Given the description of an element on the screen output the (x, y) to click on. 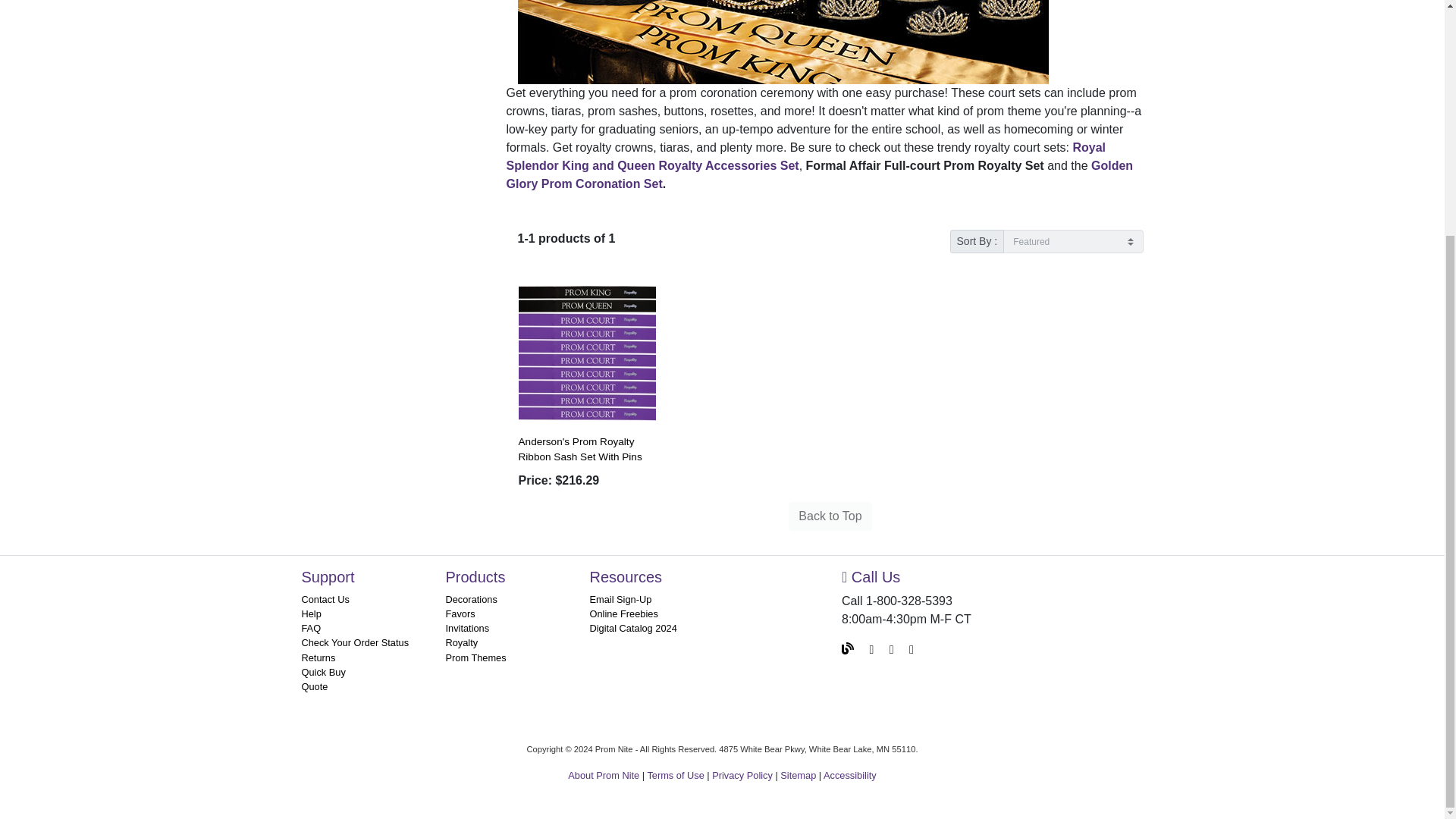
Anderson's Prom Royalty Ribbon Sash Set With Pins (587, 353)
